Given the description of an element on the screen output the (x, y) to click on. 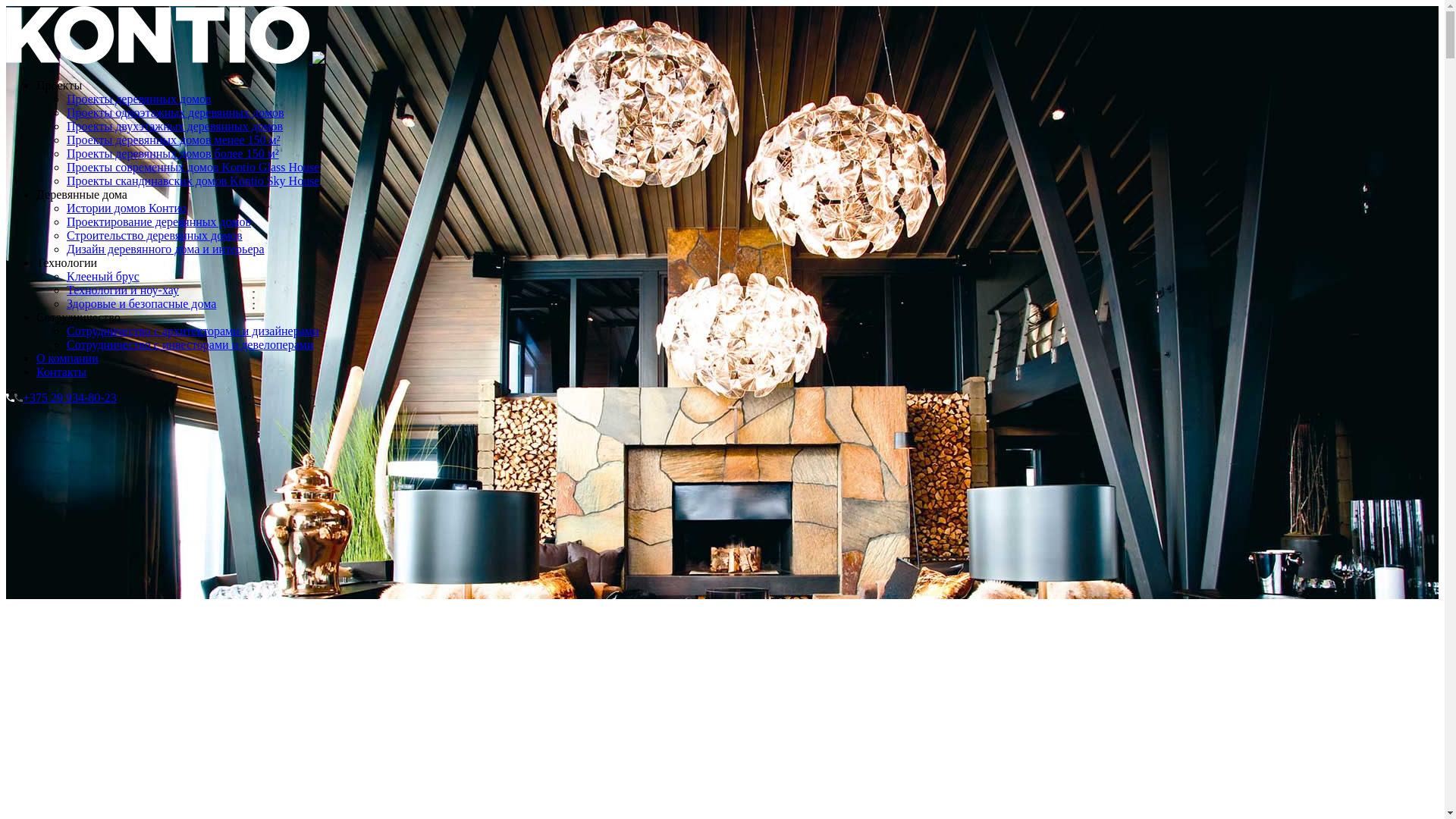
+375 29 934-80-23 Element type: text (61, 397)
